Given the description of an element on the screen output the (x, y) to click on. 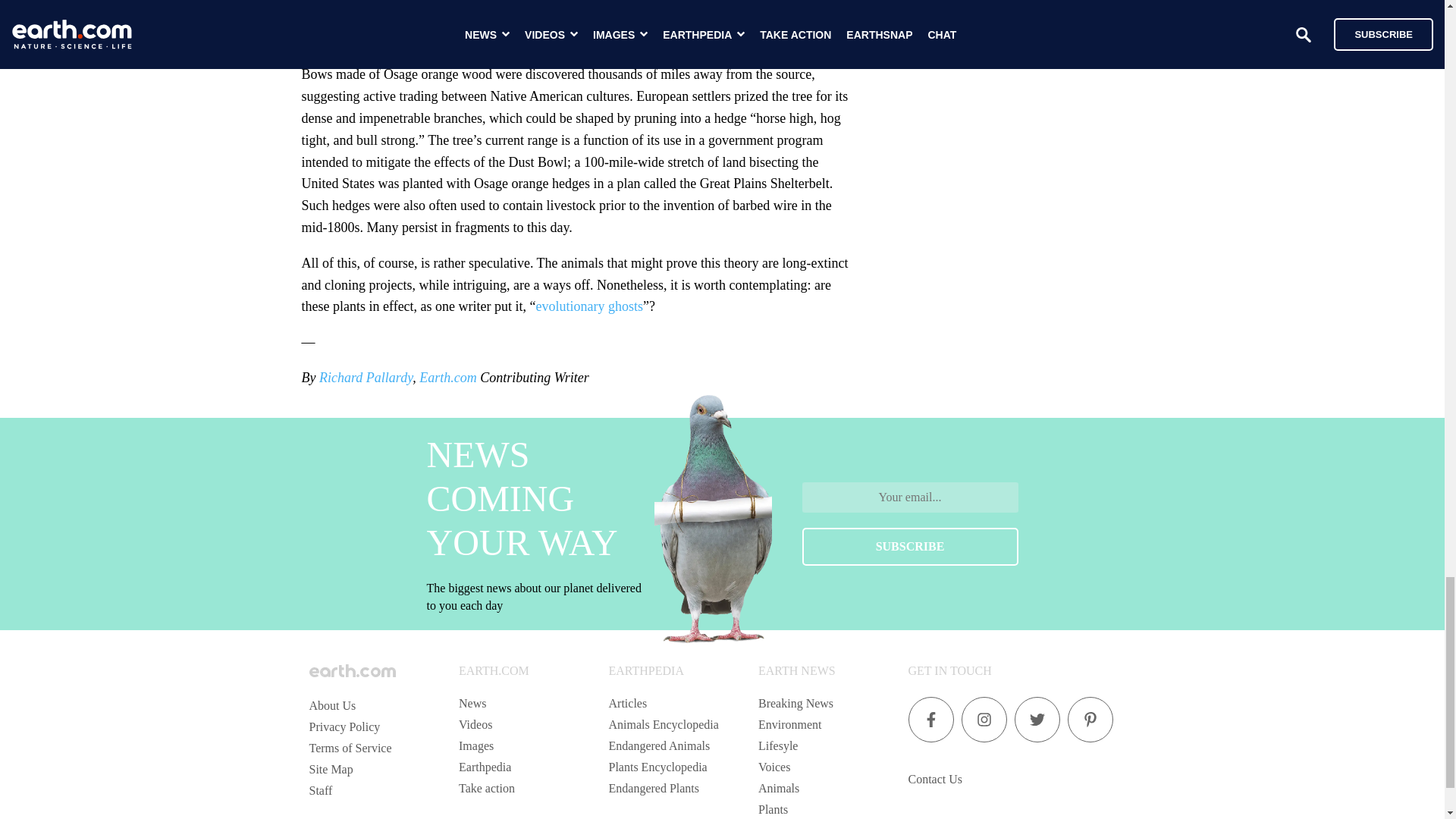
Richard Pallardy (365, 377)
Earth.com (448, 377)
evolutionary ghosts (589, 305)
